Given the description of an element on the screen output the (x, y) to click on. 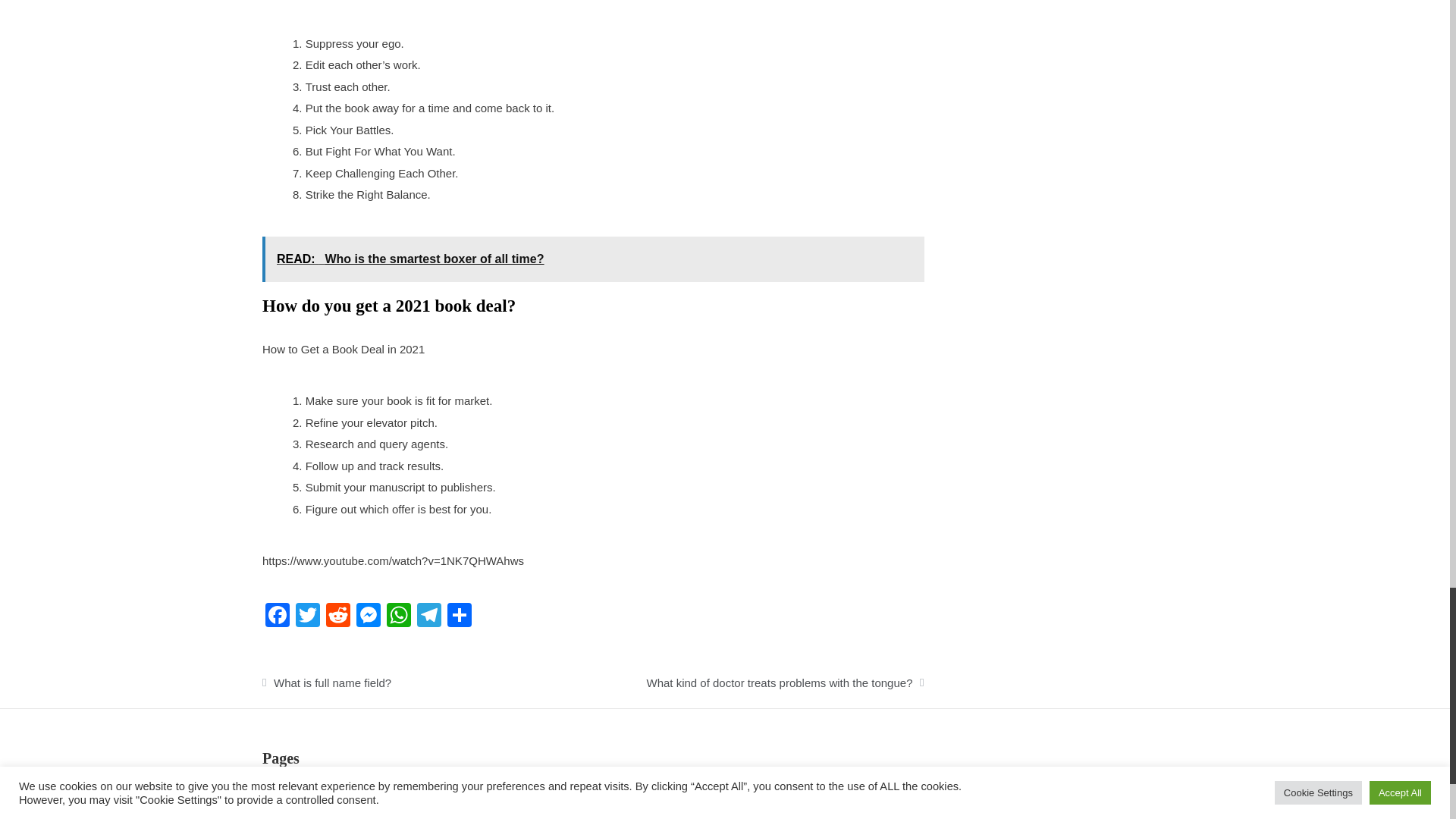
Facebook (277, 616)
Twitter (307, 616)
WhatsApp (398, 616)
Reddit (338, 616)
READ:   Who is the smartest boxer of all time? (593, 258)
Telegram (428, 616)
Messenger (368, 616)
Twitter (307, 616)
Facebook (277, 616)
Reddit (338, 616)
